Given the description of an element on the screen output the (x, y) to click on. 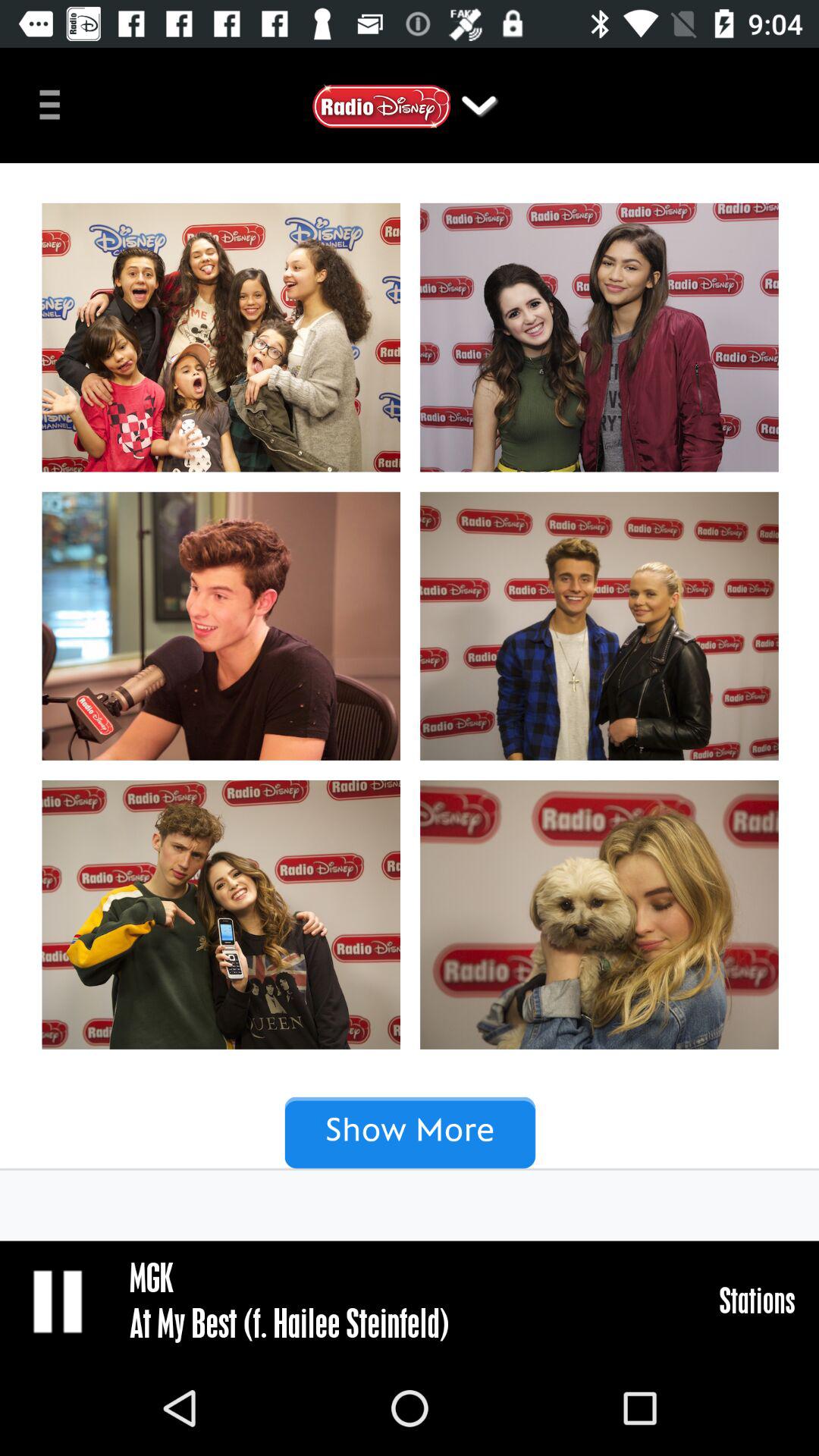
click images (409, 702)
